Given the description of an element on the screen output the (x, y) to click on. 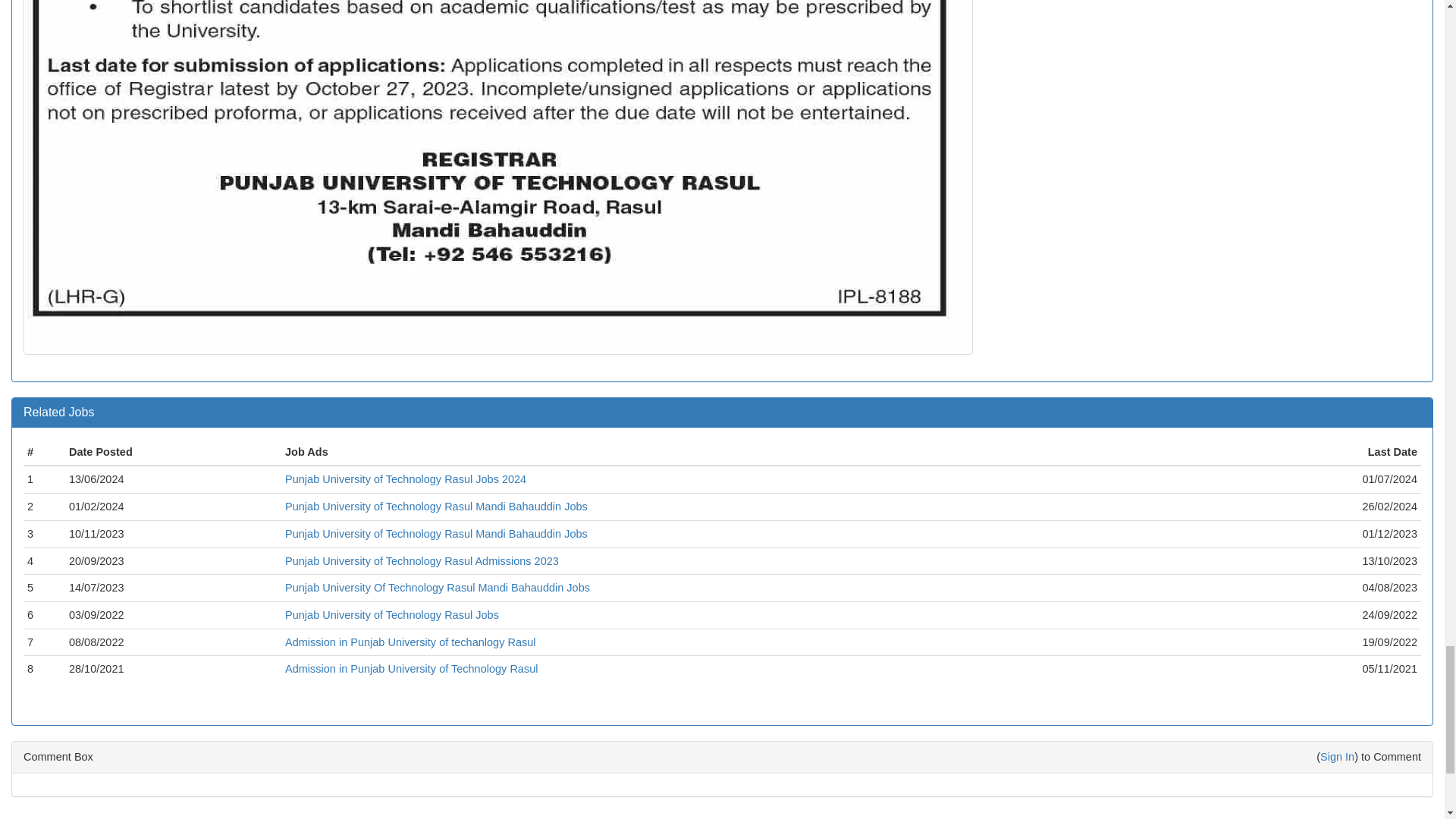
Punjab University of Technology Rasul Jobs (392, 614)
Punjab University of Technology Rasul Mandi Bahauddin Jobs (436, 506)
Punjab University of Technology Rasul Admissions 2023 (422, 561)
Punjab University Of Technology Rasul Mandi Bahauddin Jobs (437, 587)
Punjab University of Technology Rasul Jobs 2024 (405, 479)
Punjab University of Technology Rasul Mandi Bahauddin Jobs (436, 533)
Related Jobs (58, 411)
